Given the description of an element on the screen output the (x, y) to click on. 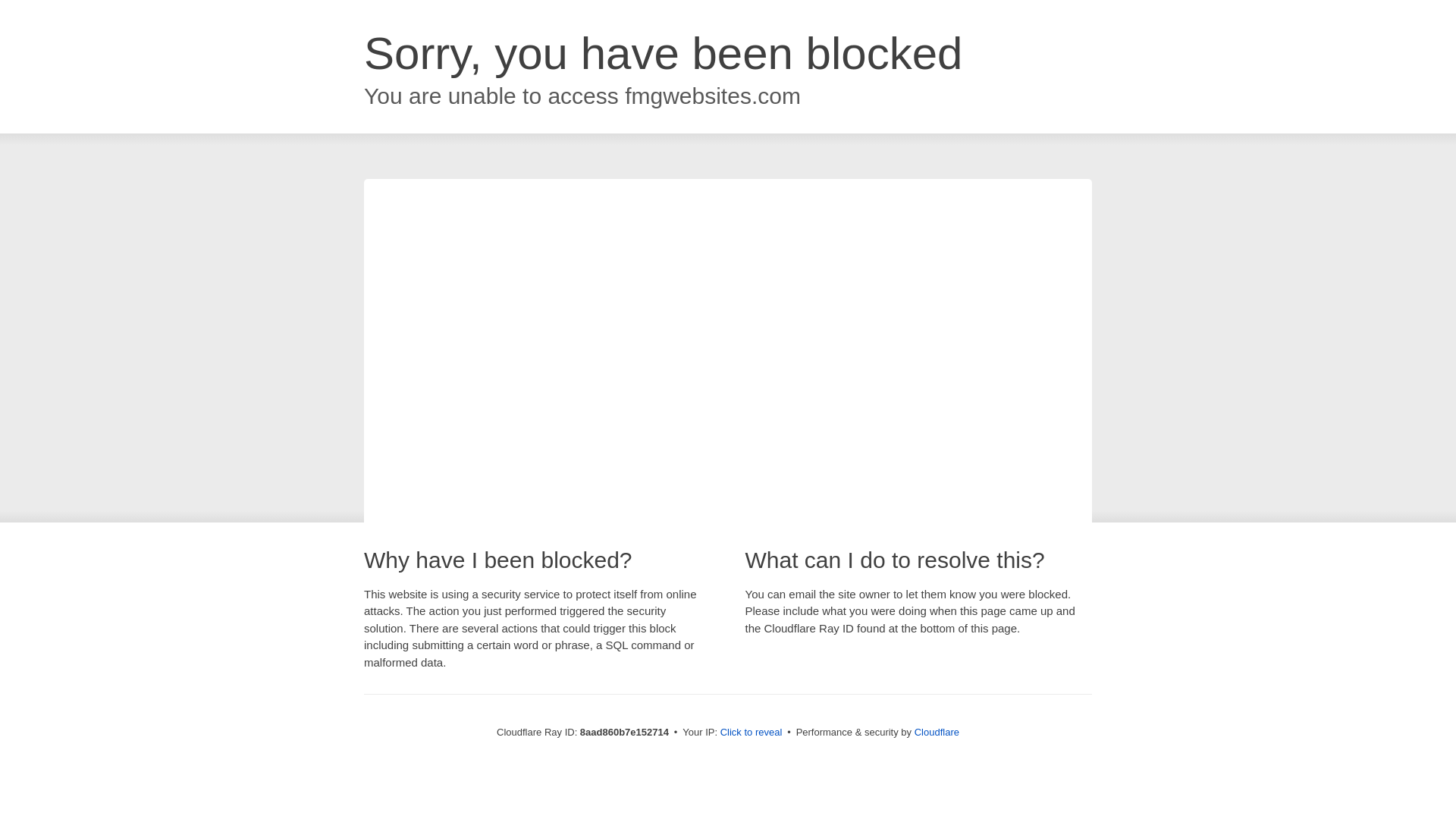
Cloudflare (936, 731)
Click to reveal (751, 732)
